Given the description of an element on the screen output the (x, y) to click on. 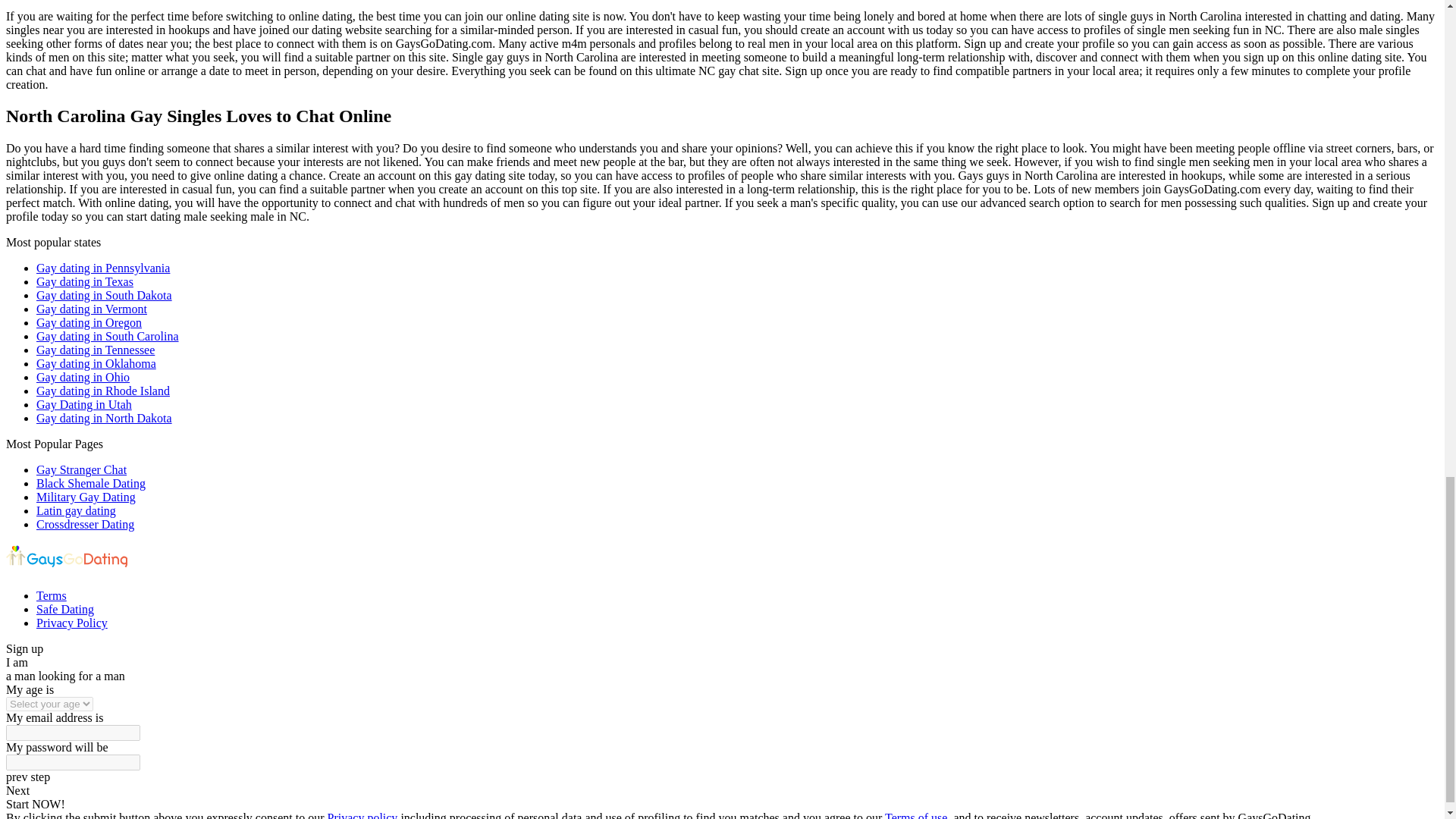
Safe Dating (65, 608)
Gay dating in South Carolina (107, 336)
Gay dating in South Dakota (103, 295)
Terms (51, 594)
Gay dating in Ohio (82, 377)
Gay Dating in Utah (84, 404)
Gay dating in Vermont (91, 308)
Military Gay Dating (85, 496)
Gay dating in Vermont (91, 308)
Gay dating in Pennsylvania (103, 267)
